Given the description of an element on the screen output the (x, y) to click on. 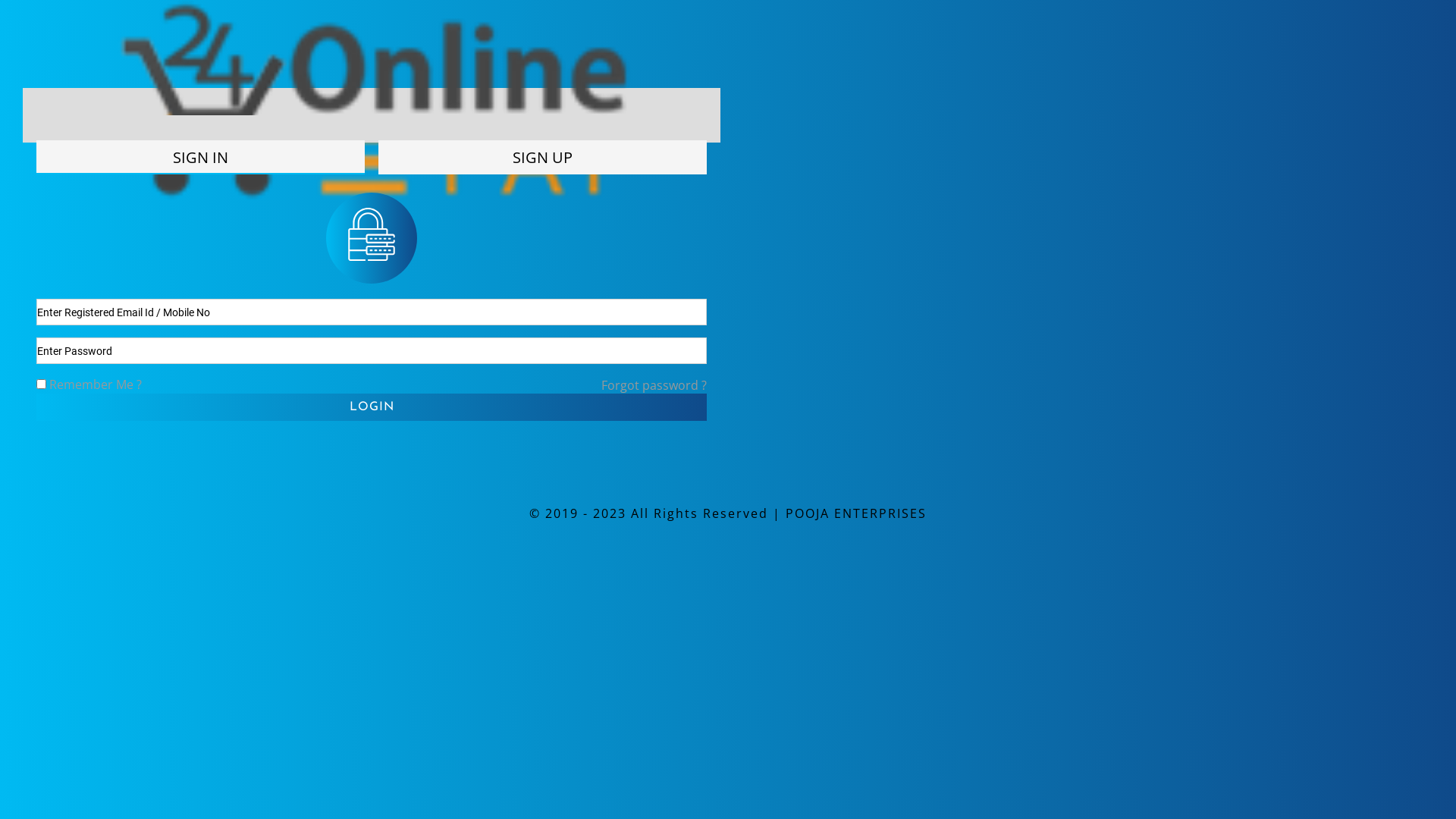
LOGIN Element type: text (371, 406)
Forgot password ? Element type: text (653, 384)
SIGN UP Element type: text (542, 157)
SIGN IN Element type: text (200, 157)
